Given the description of an element on the screen output the (x, y) to click on. 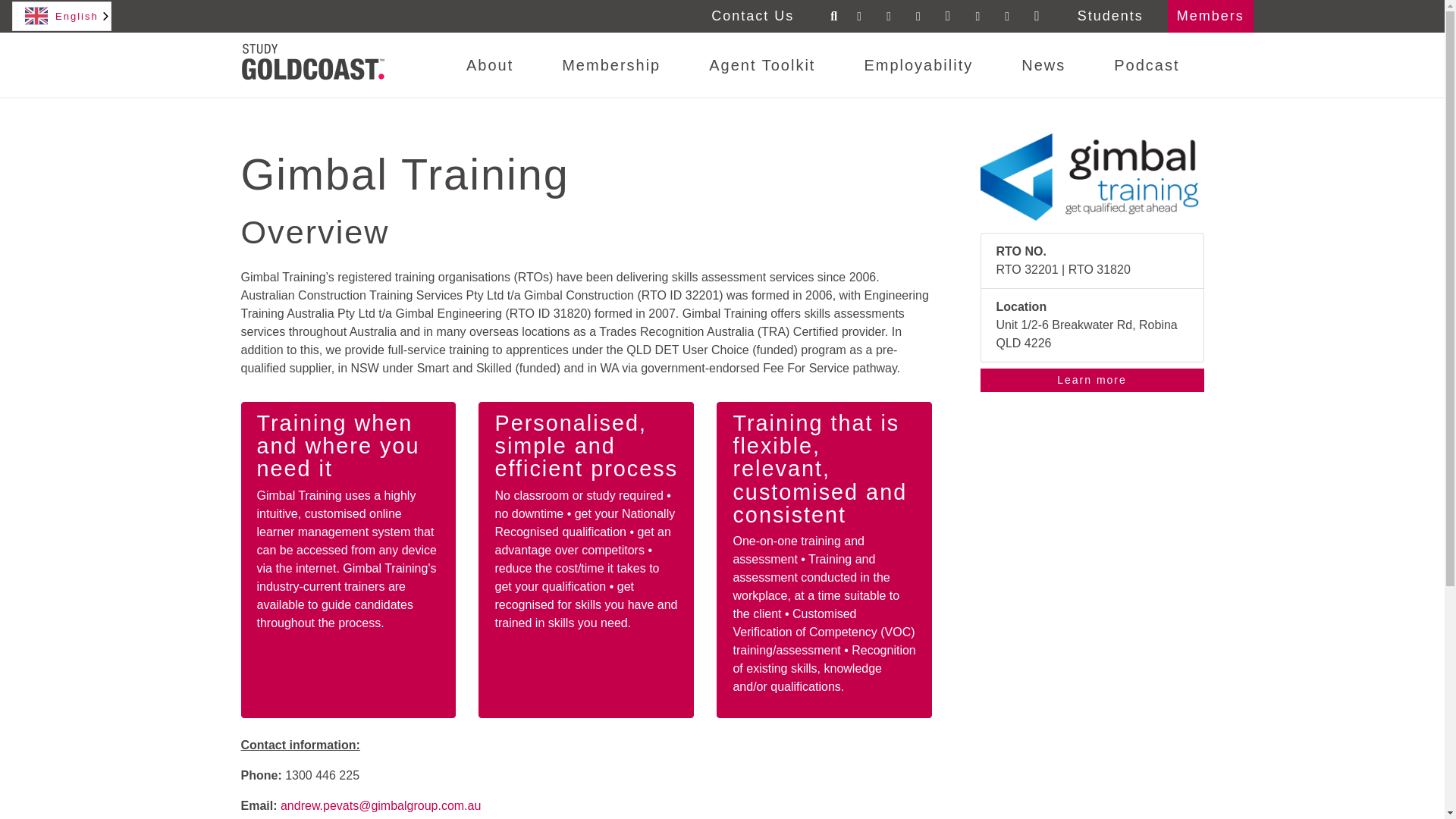
Study Gold Coast (313, 61)
Search (834, 16)
Go (22, 17)
